Given the description of an element on the screen output the (x, y) to click on. 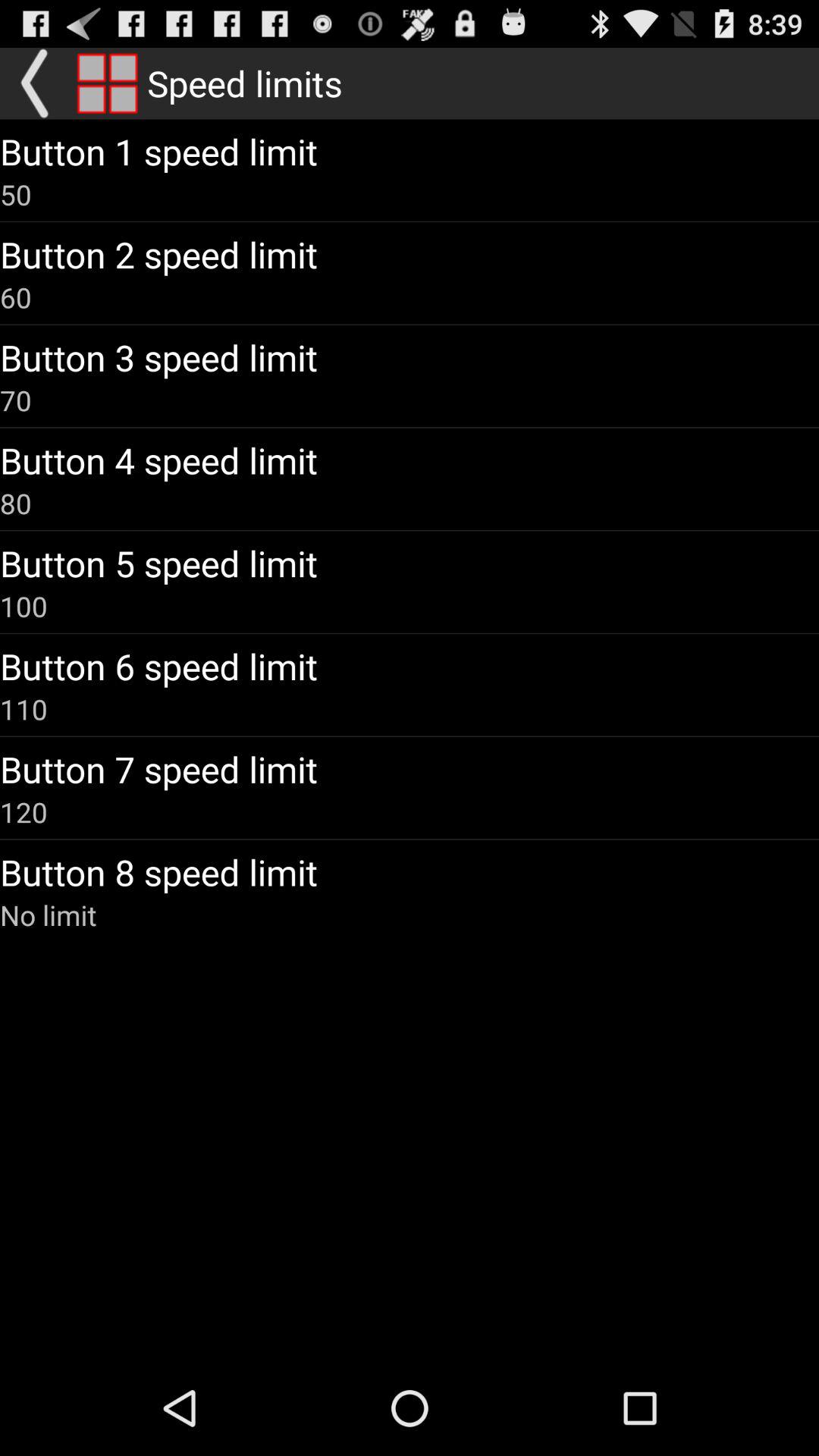
scroll to the 110 item (23, 709)
